Given the description of an element on the screen output the (x, y) to click on. 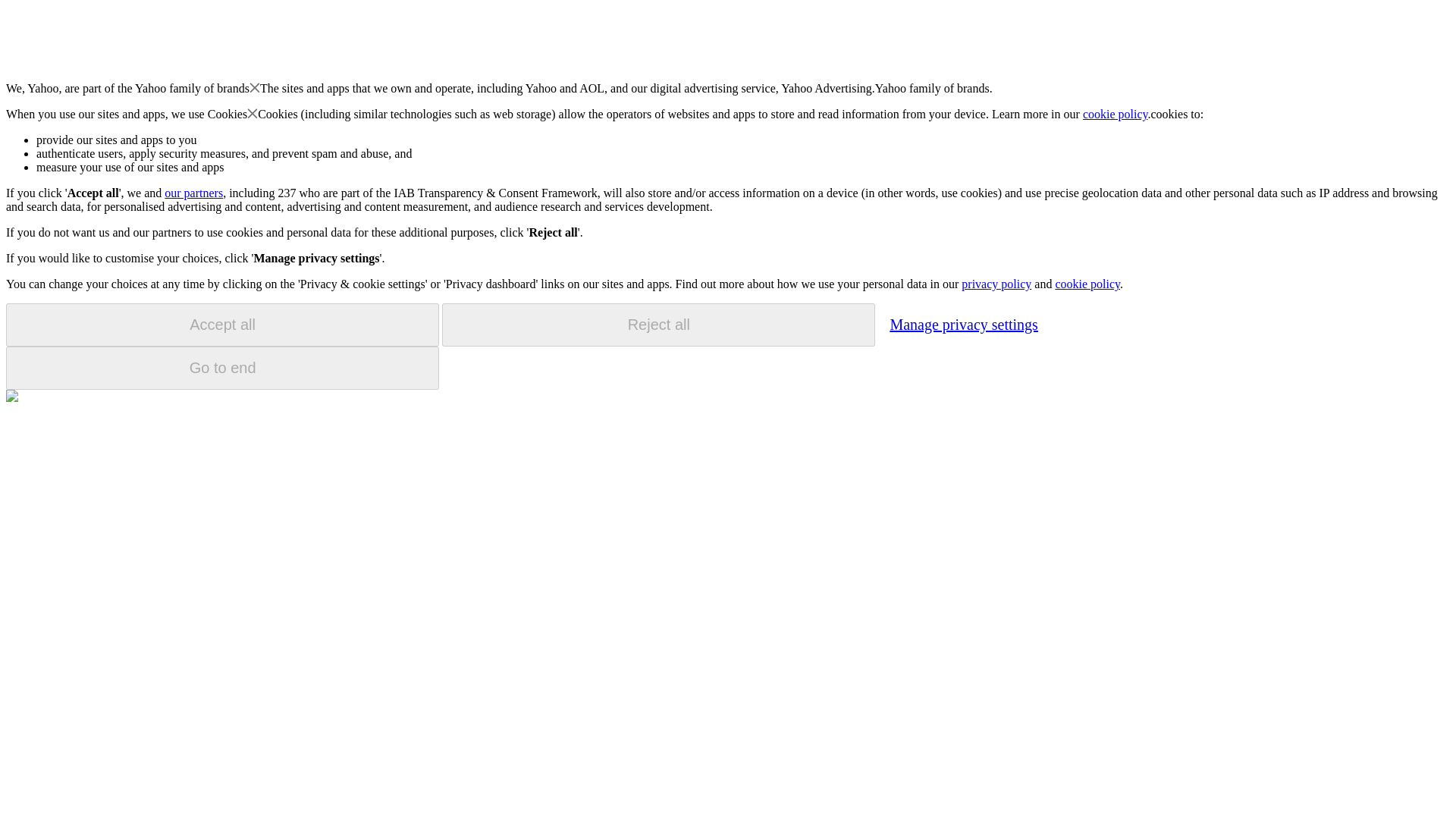
privacy policy (995, 283)
cookie policy (1086, 283)
cookie policy (1115, 113)
Accept all (222, 324)
Go to end (222, 367)
our partners (193, 192)
Manage privacy settings (963, 323)
Reject all (658, 324)
